Given the description of an element on the screen output the (x, y) to click on. 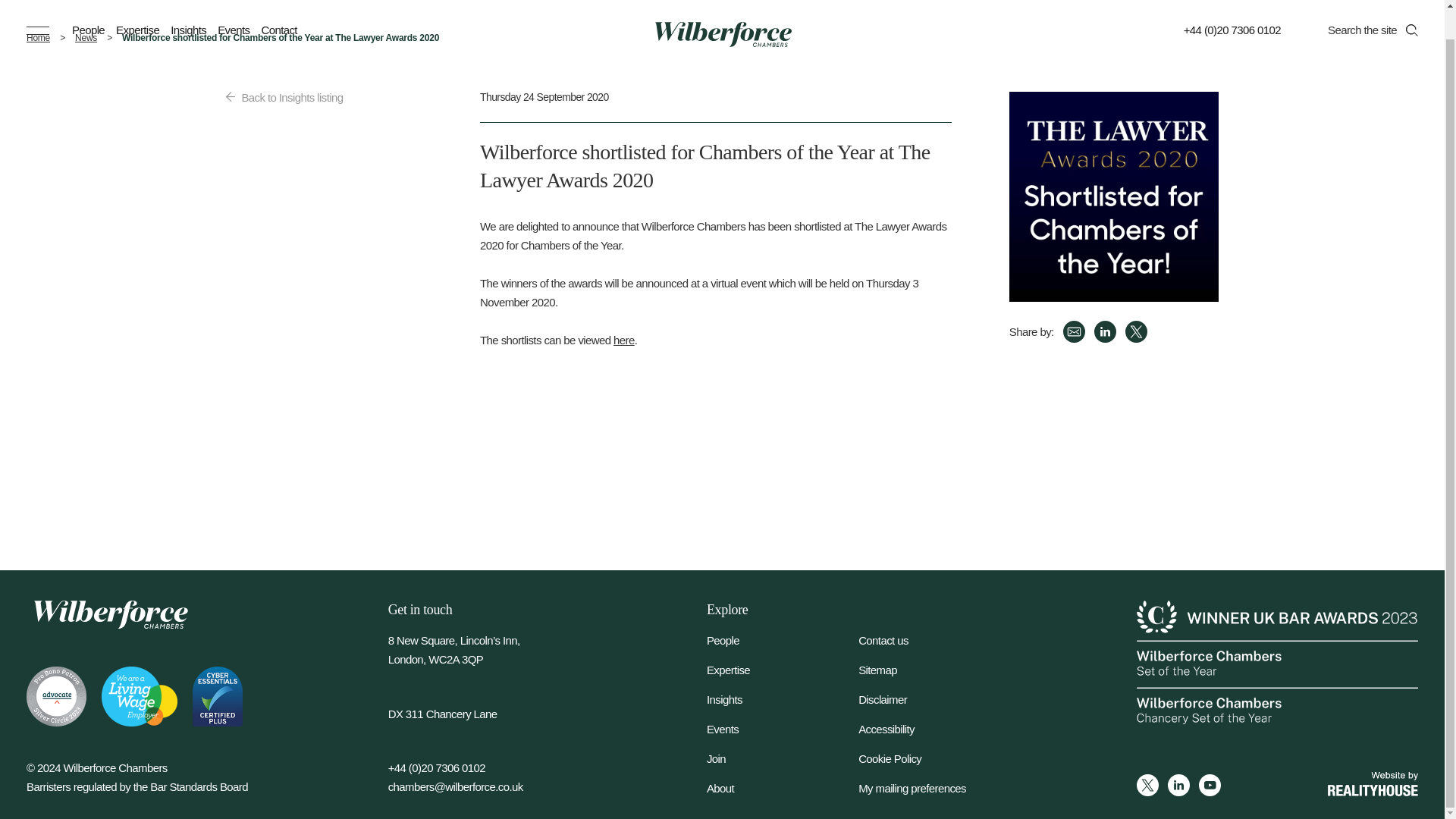
LinkedIn (1105, 332)
Expertise (137, 6)
Insights (188, 6)
About (782, 788)
Insights (782, 699)
People (782, 640)
People (87, 6)
here (623, 339)
Disclaimer (934, 699)
Contact us (934, 640)
